Given the description of an element on the screen output the (x, y) to click on. 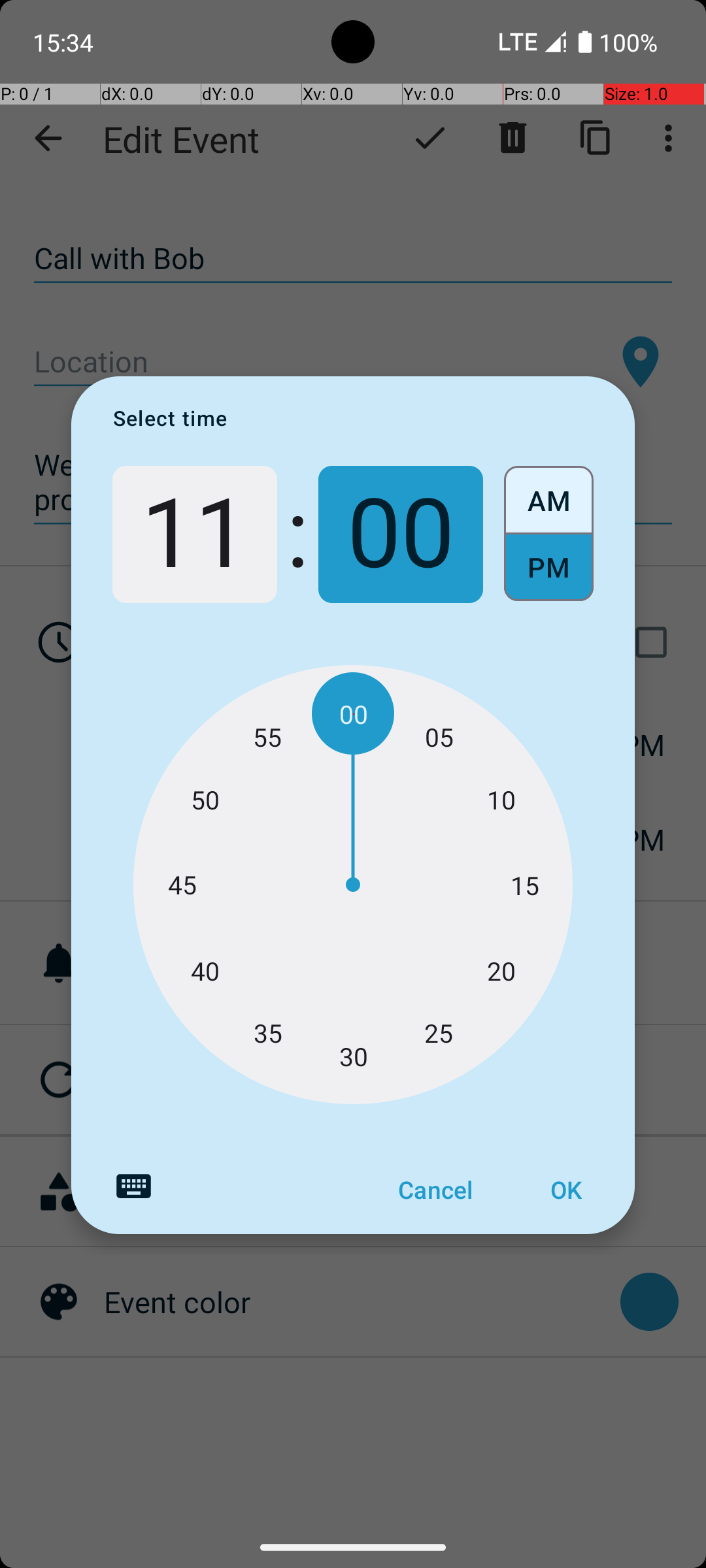
Select AM or PM Element type: android.widget.LinearLayout (548, 534)
